Given the description of an element on the screen output the (x, y) to click on. 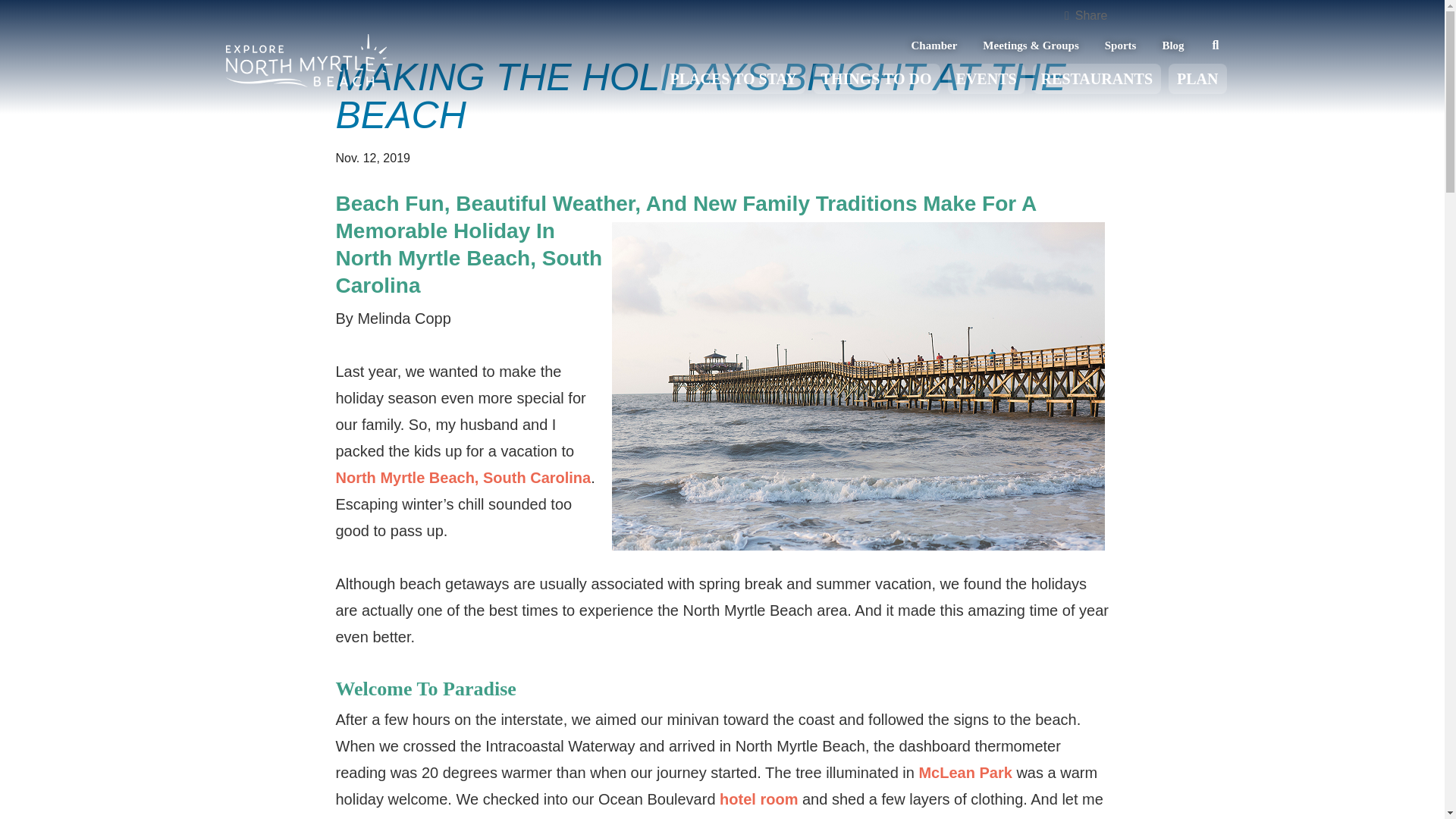
Restaurants (1096, 78)
Sports (1120, 45)
Chamber (934, 45)
Blog (1172, 45)
Chamber (934, 45)
PLAN (1197, 78)
RESTAURANTS (1096, 78)
Sports (1120, 45)
THINGS TO DO (876, 78)
Places To Stay (733, 78)
Things To Do (876, 78)
Plan (1197, 78)
Blog (1172, 45)
EVENTS (986, 78)
Events (986, 78)
